Given the description of an element on the screen output the (x, y) to click on. 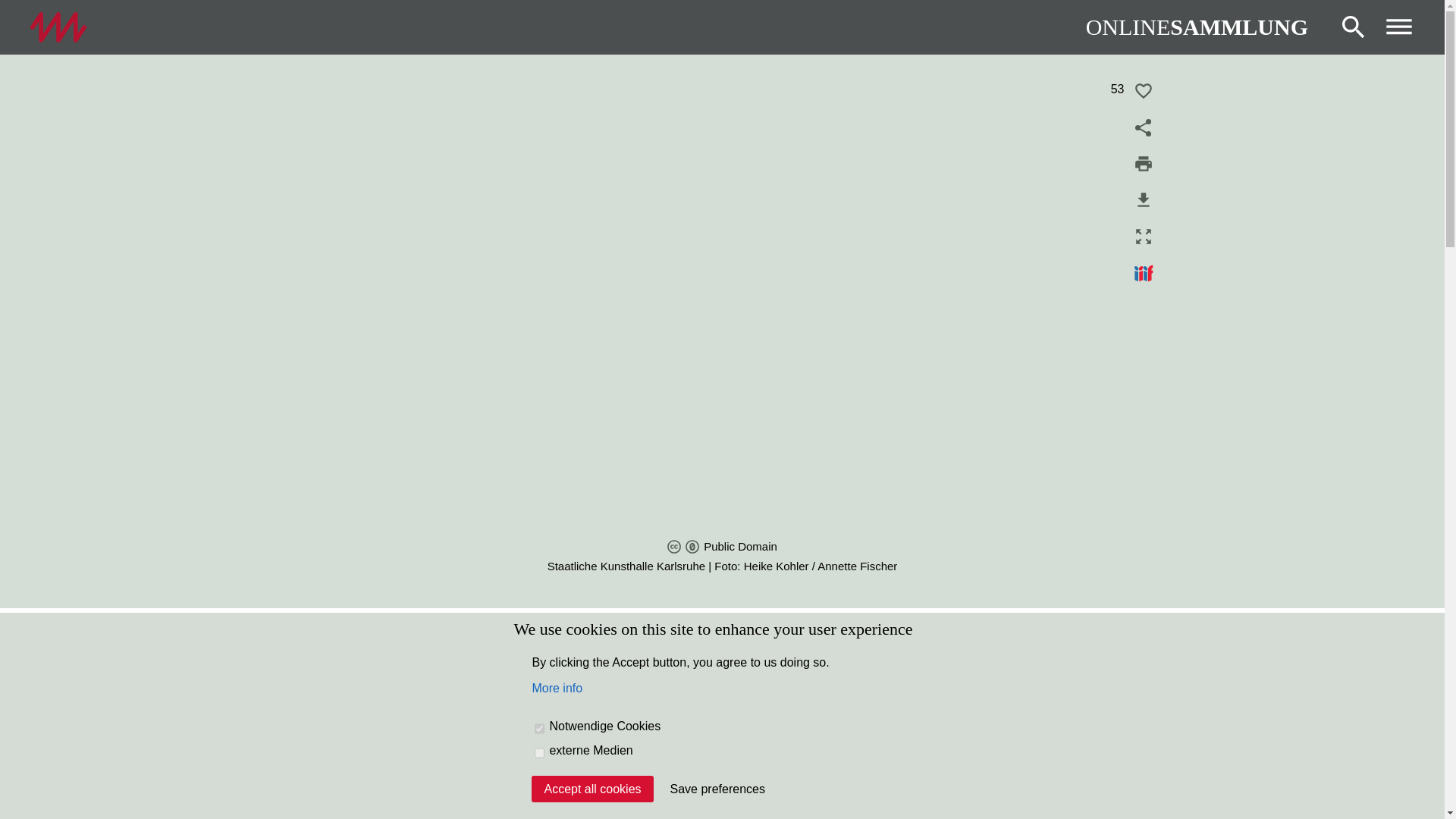
Public Domain (691, 546)
Public Domain (721, 546)
Share (1143, 127)
Like (1143, 91)
ONLINESAMMLUNG (1196, 27)
Public Domain (721, 546)
Show menu (1398, 27)
Public Domain (673, 546)
Print (1143, 163)
